Given the description of an element on the screen output the (x, y) to click on. 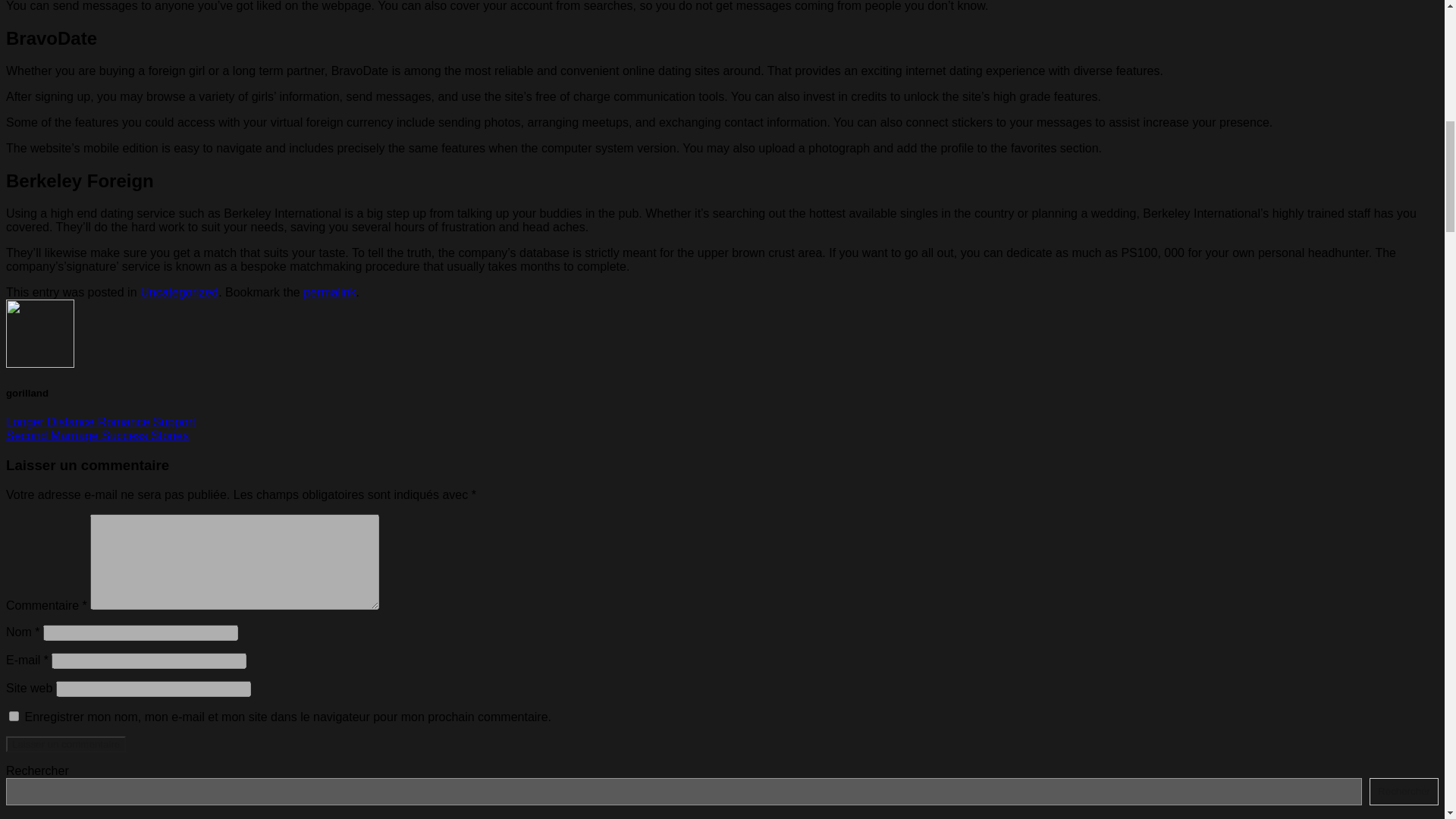
yes (13, 716)
Second Marriage Success Stories (97, 435)
Permalink to Worldwide Dating Sites (328, 291)
permalink (328, 291)
Longer Distance Romance Support (100, 421)
Uncategorized (178, 291)
Laisser un commentaire (65, 743)
Laisser un commentaire (65, 743)
